Given the description of an element on the screen output the (x, y) to click on. 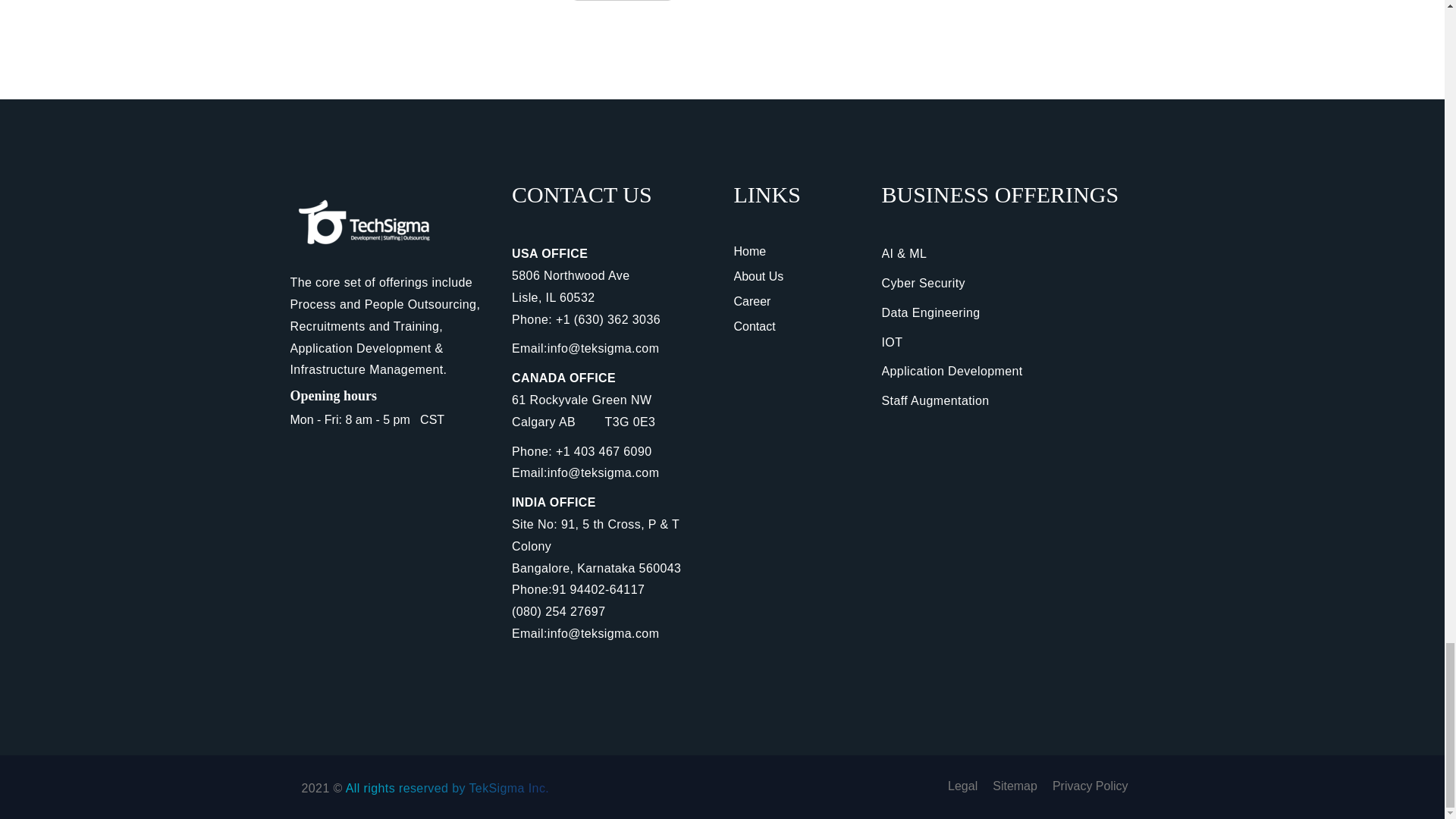
Cyber Security (922, 282)
Home (750, 250)
All rights reserved by TekSigma Inc. (447, 788)
Application Development (951, 370)
About Us (758, 276)
Sitemap (1014, 785)
Staff Augmentation (934, 400)
IOT (891, 341)
Legal (961, 785)
